Given the description of an element on the screen output the (x, y) to click on. 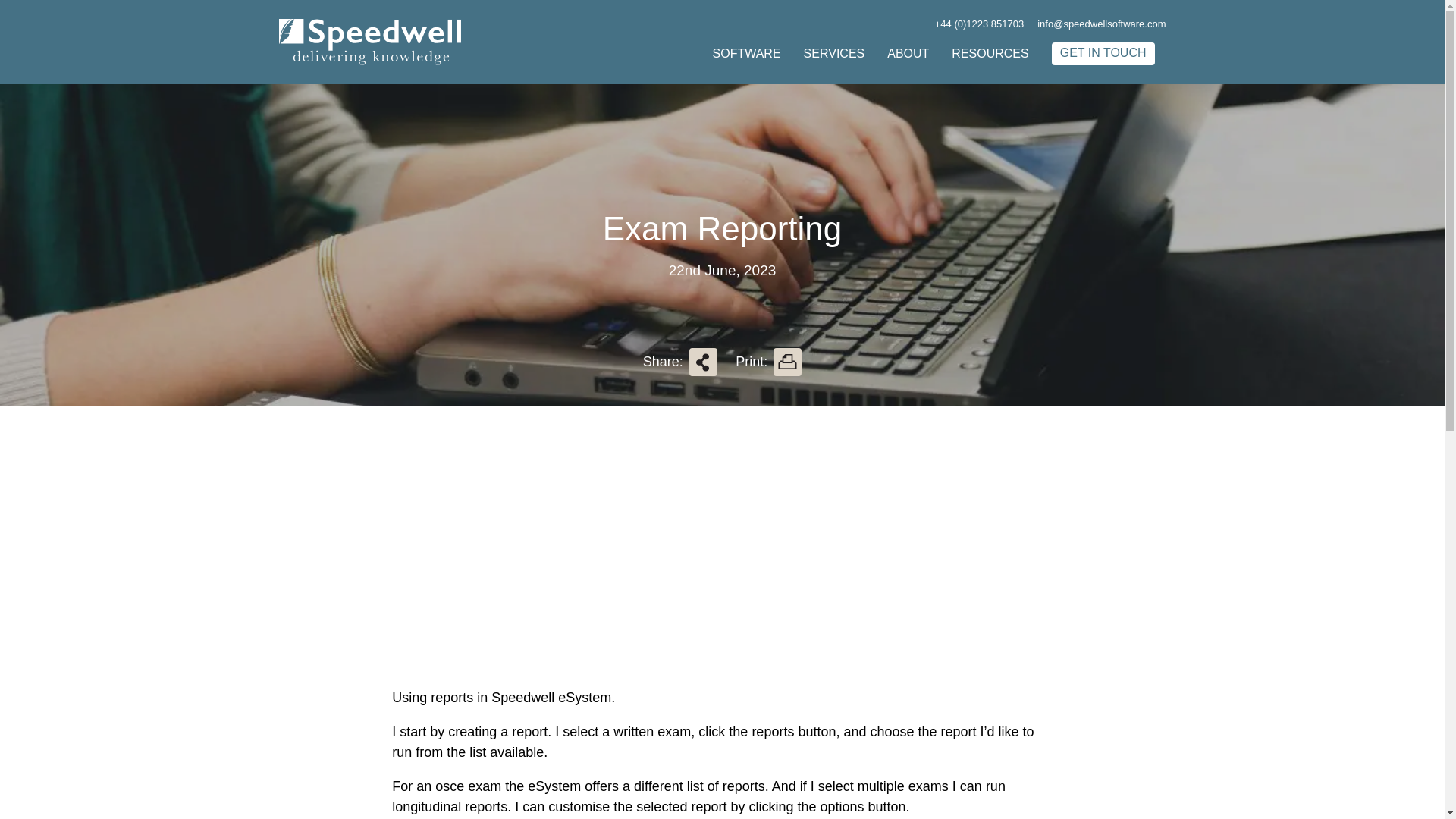
SOFTWARE (746, 52)
Using Reports (581, 561)
ABOUT (907, 52)
GET IN TOUCH (1102, 53)
RESOURCES (989, 52)
SERVICES (833, 52)
